Given the description of an element on the screen output the (x, y) to click on. 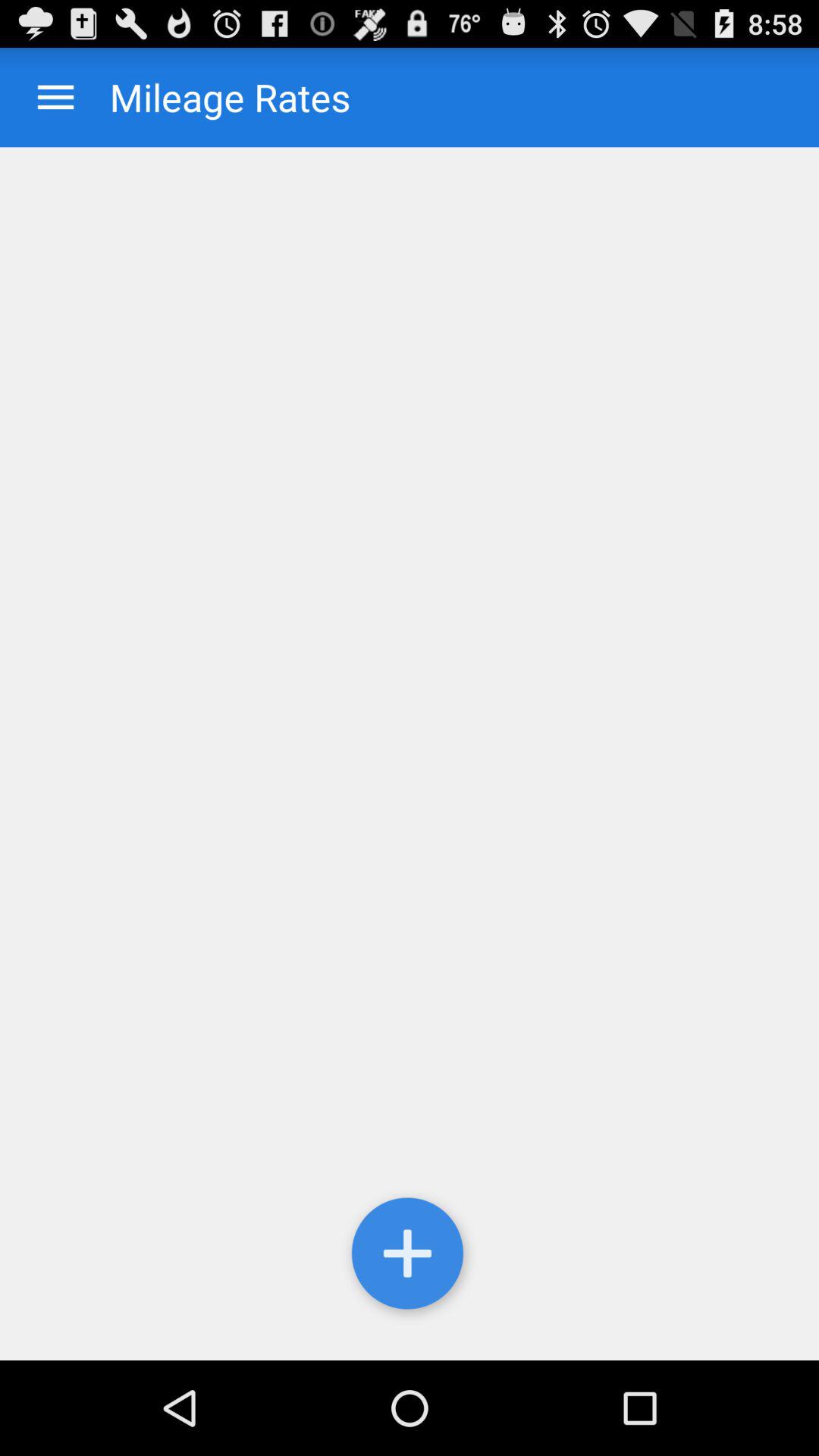
press item below the mileage rates icon (409, 1256)
